Given the description of an element on the screen output the (x, y) to click on. 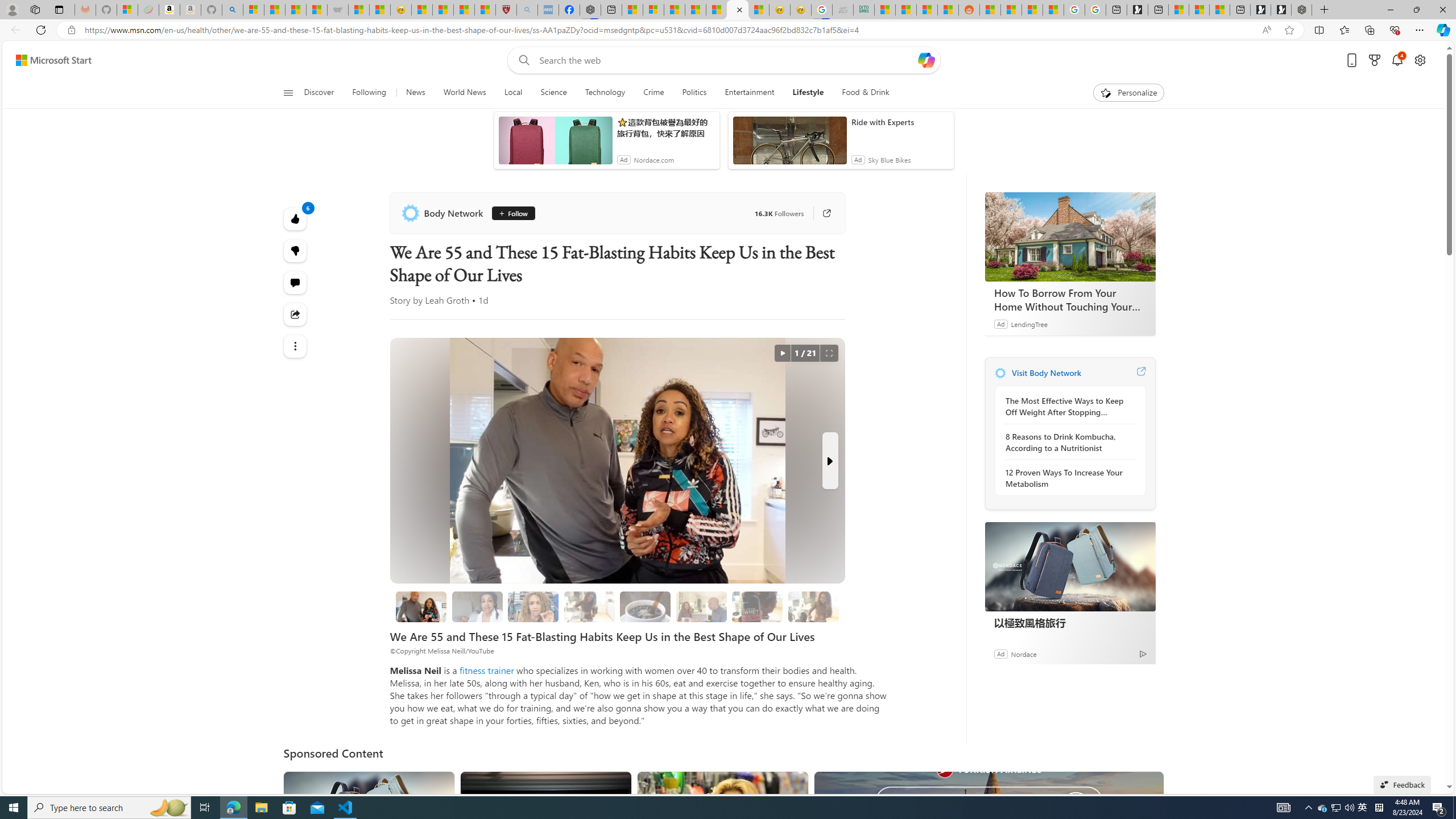
12 Popular Science Lies that Must be Corrected (485, 9)
Ride with Experts (899, 121)
6 Since Eating More Protein Her Training Has Improved (757, 606)
Recipes - MSN (421, 9)
